Given the description of an element on the screen output the (x, y) to click on. 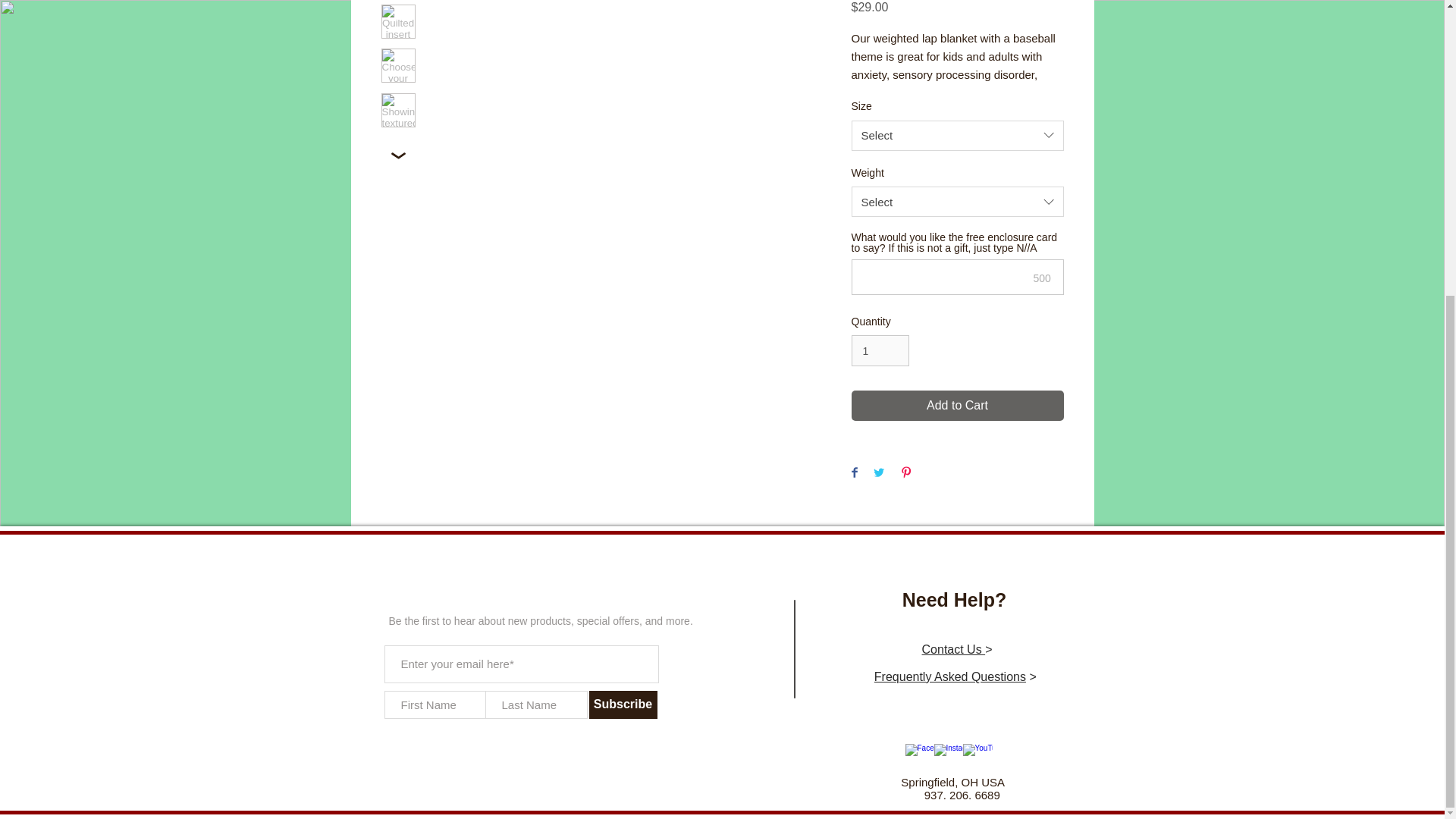
Subscribe (622, 705)
Select (956, 135)
Add to Cart (956, 405)
1 (879, 350)
Select (956, 201)
Frequently Asked Questions (950, 676)
